Given the description of an element on the screen output the (x, y) to click on. 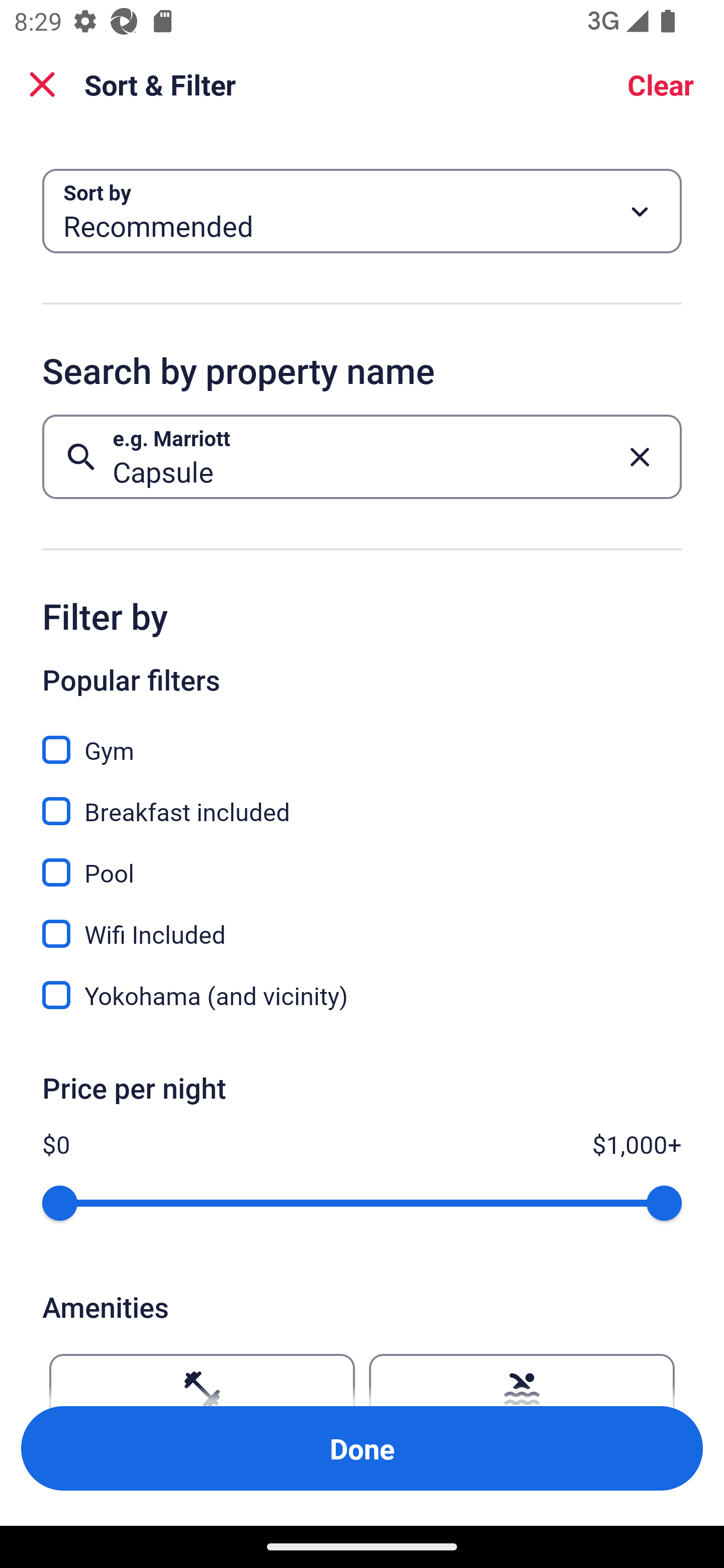
Close Sort and Filter (42, 84)
Clear (660, 84)
Sort by Button Recommended (361, 211)
e.g. Marriott Button Capsule (361, 455)
Gym, Gym (361, 738)
Breakfast included, Breakfast included (361, 800)
Pool, Pool (361, 861)
Wifi Included, Wifi Included (361, 922)
Yokohama (and vicinity), Yokohama (and vicinity) (361, 995)
Apply and close Sort and Filter Done (361, 1448)
